Given the description of an element on the screen output the (x, y) to click on. 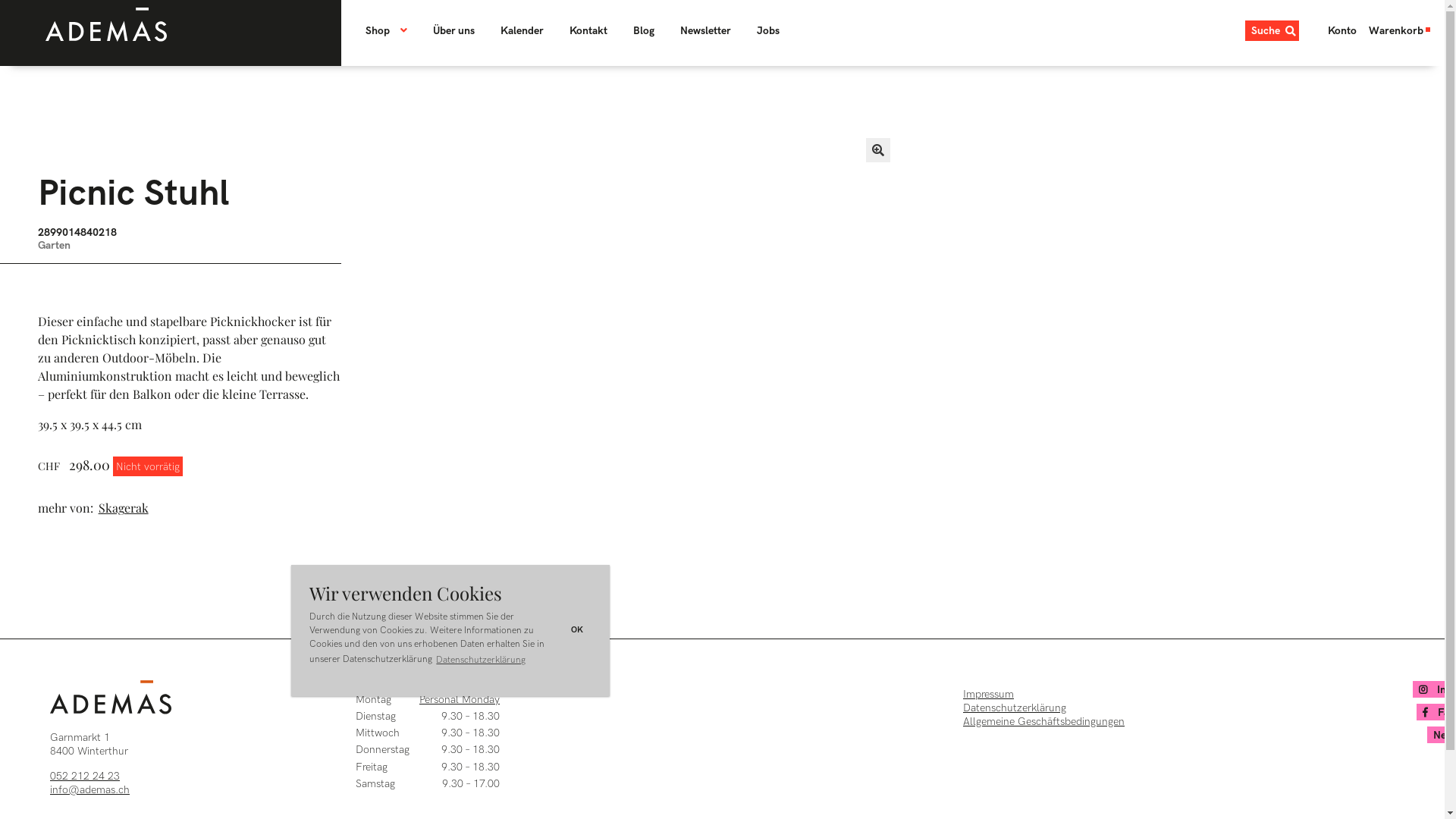
Suche Element type: text (1272, 30)
info@ademas.ch Element type: text (89, 789)
Skagerak Element type: text (125, 507)
OK Element type: text (577, 630)
Konto Element type: text (1338, 30)
Warenkorb Element type: text (1400, 30)
Kalender Element type: text (522, 30)
Shop Element type: text (391, 30)
Personal Monday Element type: text (459, 699)
052 212 24 23 Element type: text (84, 774)
Blog Element type: text (643, 30)
Garten Element type: text (53, 244)
Newsletter Element type: text (705, 30)
Kontakt Element type: text (588, 30)
picnic stuhl grau.jpg Element type: hover (594, 426)
Jobs Element type: text (767, 30)
Impressum Element type: text (988, 693)
